Given the description of an element on the screen output the (x, y) to click on. 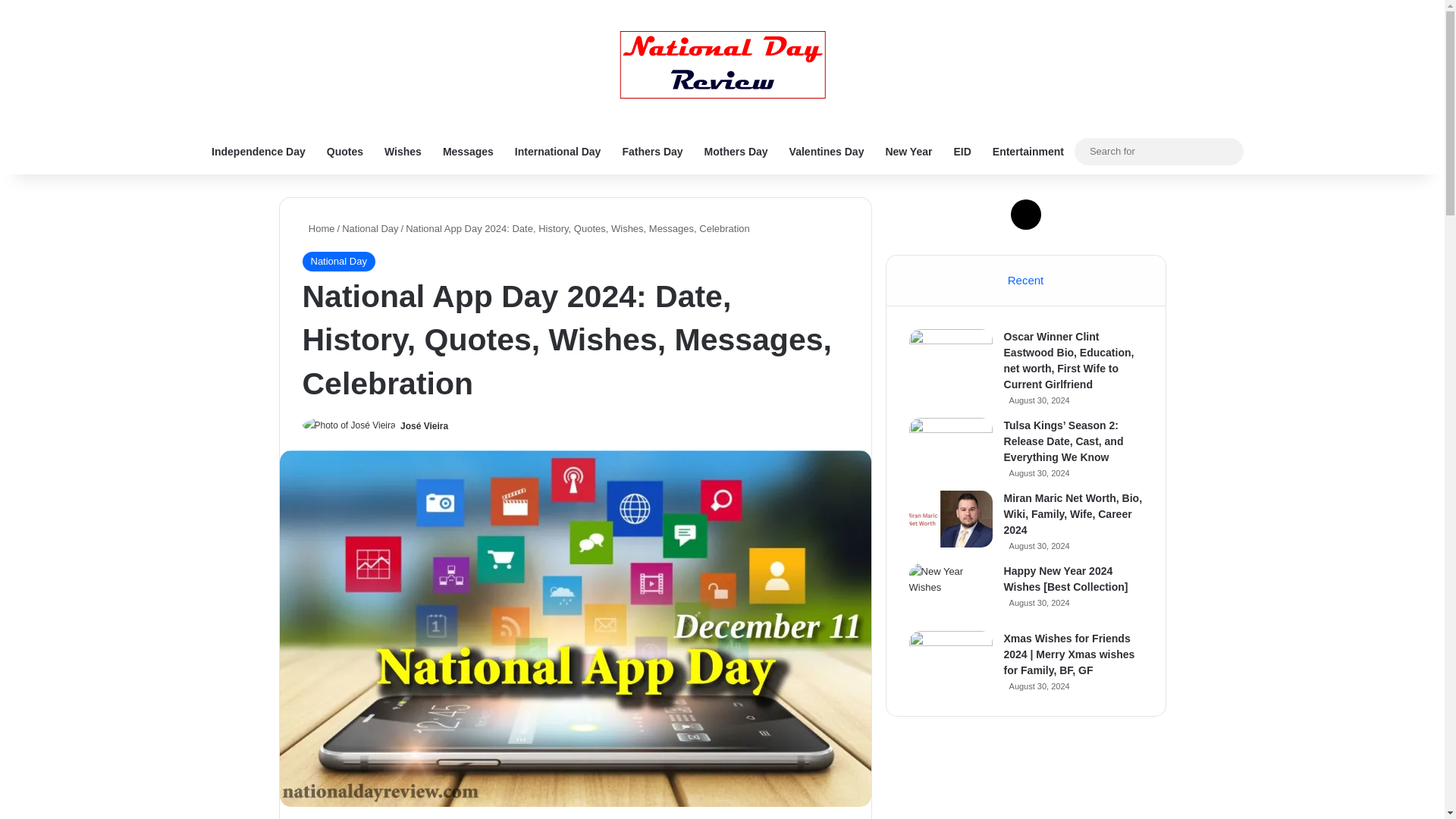
Fathers Day (652, 151)
Valentines Day (826, 151)
Quotes (344, 151)
Independence Day (257, 151)
Home (317, 228)
National Day Review (721, 64)
National Day (369, 228)
National Day (337, 261)
Messages (467, 151)
Mothers Day (736, 151)
